Given the description of an element on the screen output the (x, y) to click on. 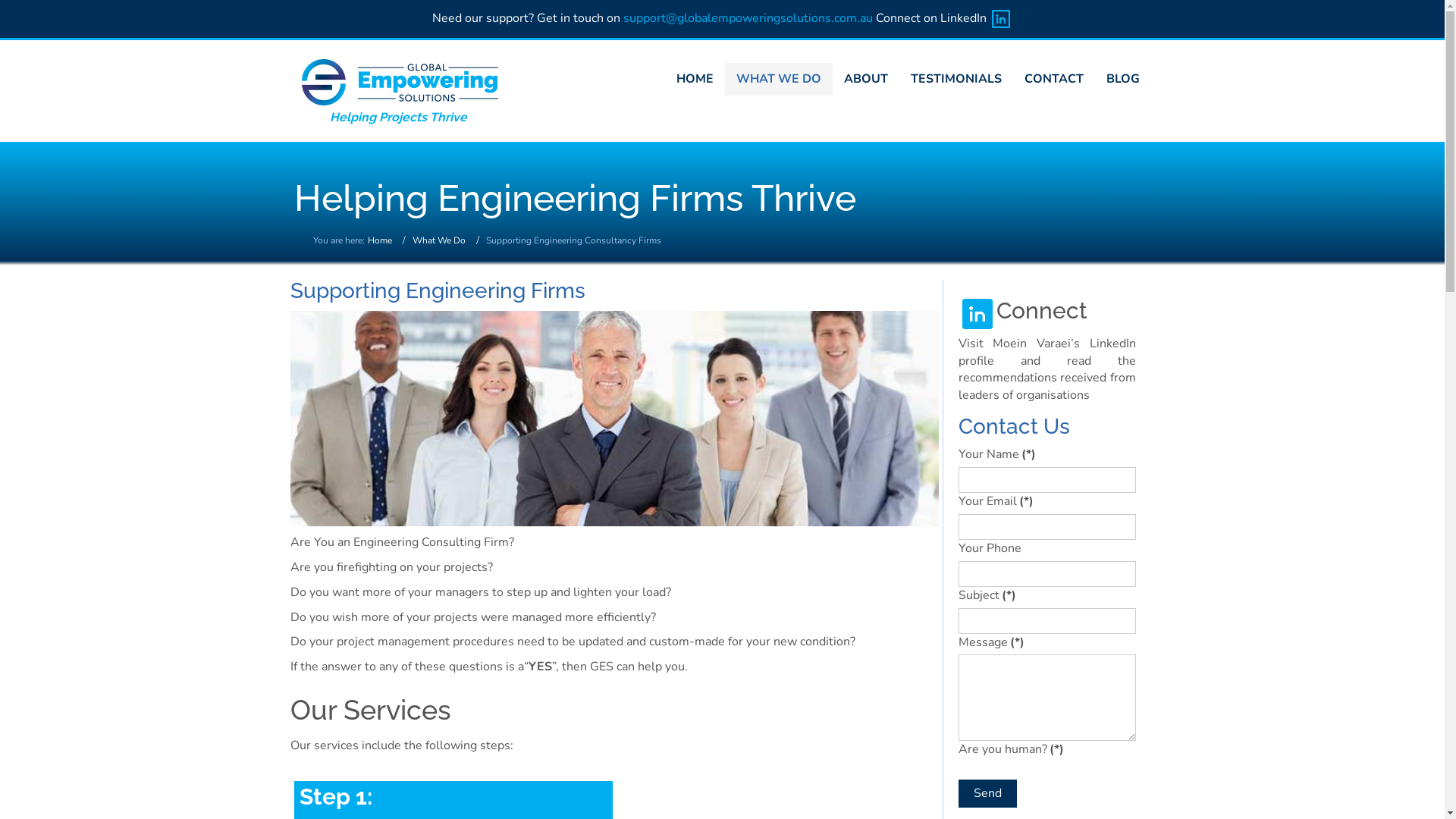
BLOG Element type: text (1123, 78)
Home Element type: text (379, 240)
CONTACT Element type: text (1054, 78)
Send Element type: text (987, 793)
TESTIMONIALS Element type: text (956, 78)
WHAT WE DO Element type: text (778, 78)
Supporting Engineering Firms Element type: text (436, 290)
support@globalempoweringsolutions.com.au Element type: text (747, 17)
ABOUT Element type: text (865, 78)
HOME Element type: text (694, 78)
What We Do Element type: text (438, 240)
